Given the description of an element on the screen output the (x, y) to click on. 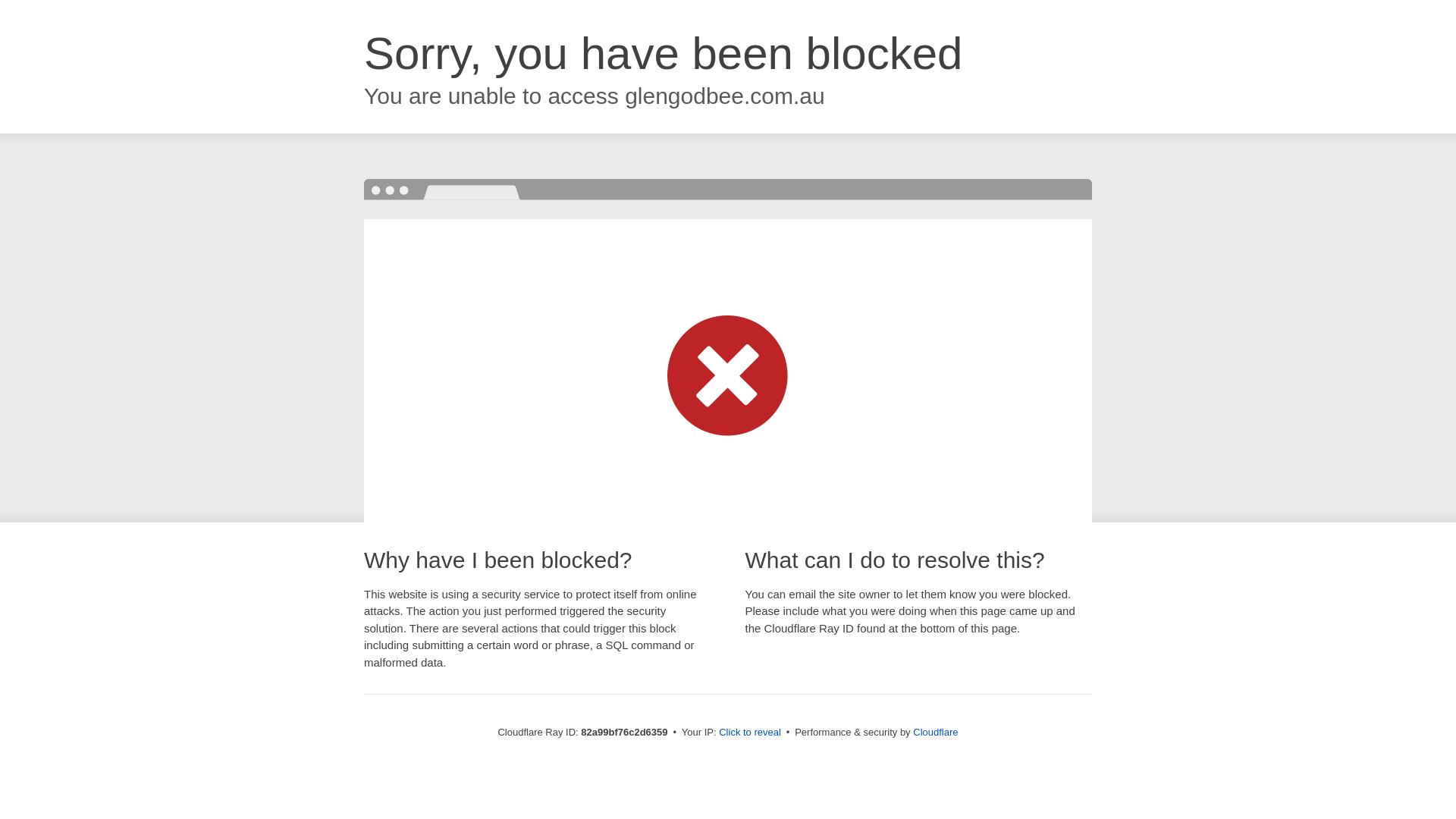
Click to reveal Element type: text (749, 732)
Cloudflare Element type: text (935, 731)
